Given the description of an element on the screen output the (x, y) to click on. 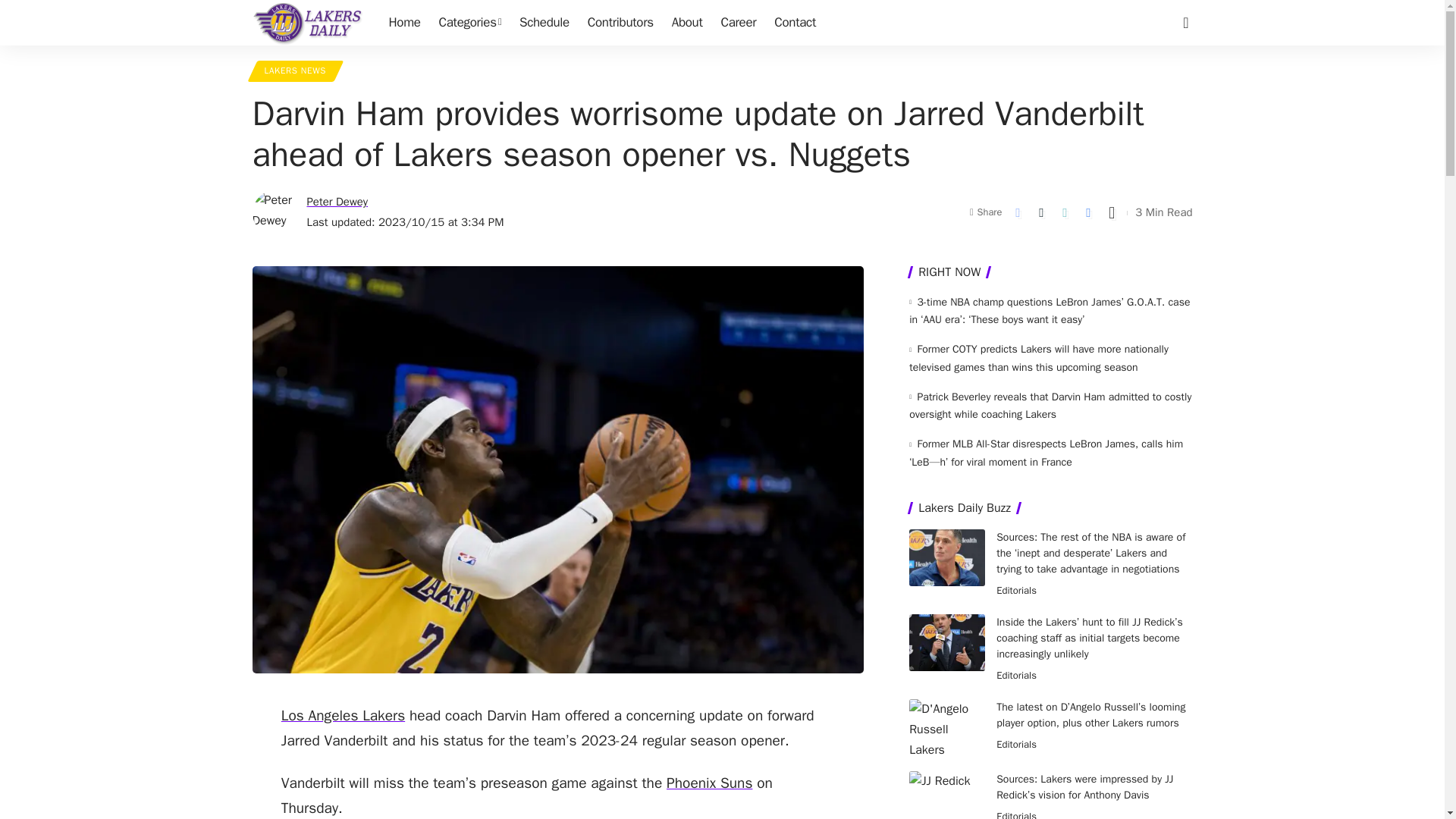
Los Angeles Lakers (342, 715)
Contact (795, 22)
LAKERS NEWS (294, 70)
About (686, 22)
Schedule (544, 22)
Los Angeles Lakers (342, 715)
Categories (470, 22)
Phoenix Suns (709, 782)
Contributors (620, 22)
Lakers Daily (307, 22)
